Given the description of an element on the screen output the (x, y) to click on. 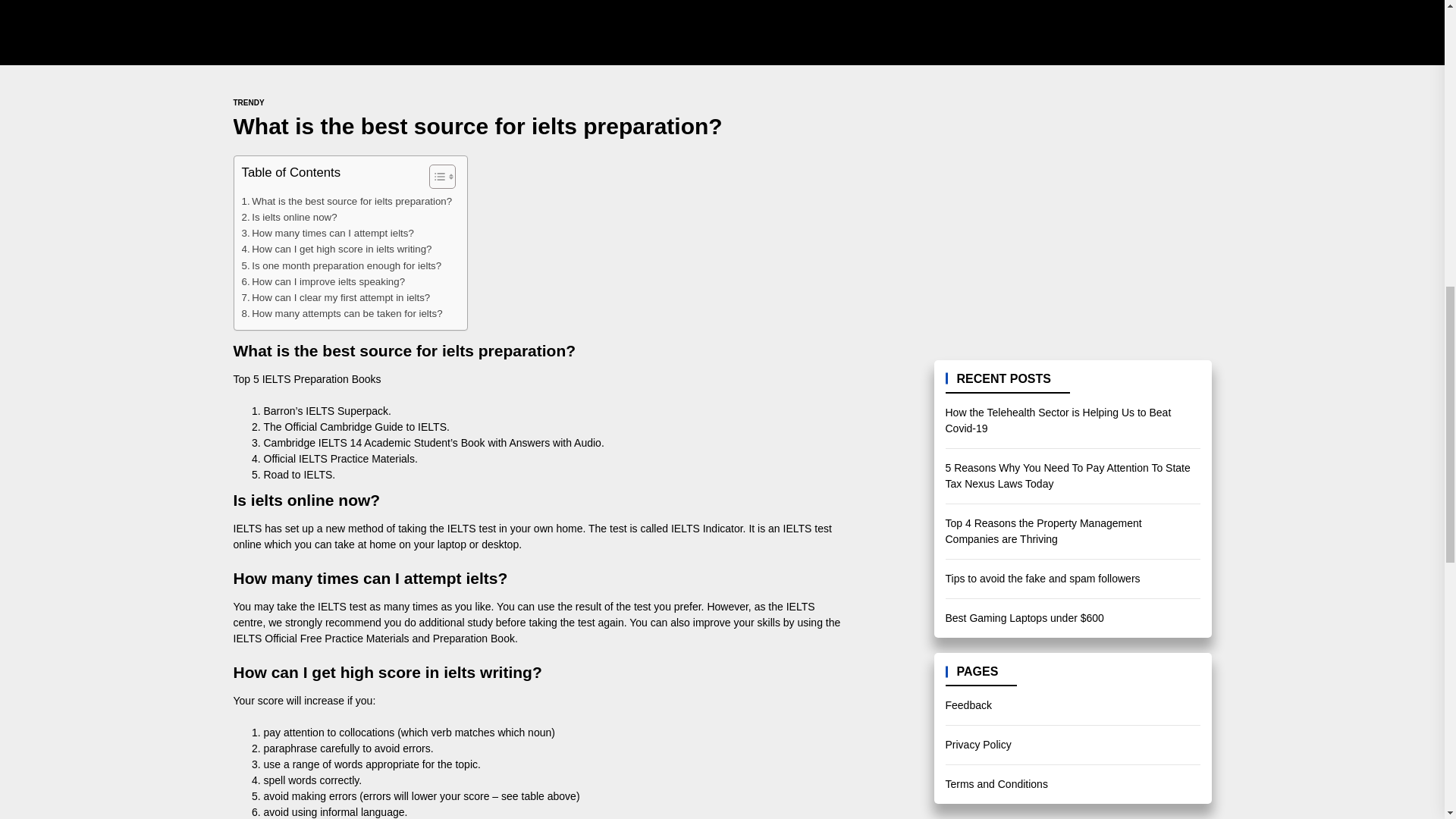
Is one month preparation enough for ielts? (341, 265)
What is the best source for ielts preparation? (346, 200)
Is ielts online now? (288, 217)
How many times can I attempt ielts? (327, 232)
How can I get high score in ielts writing? (335, 248)
